Given the description of an element on the screen output the (x, y) to click on. 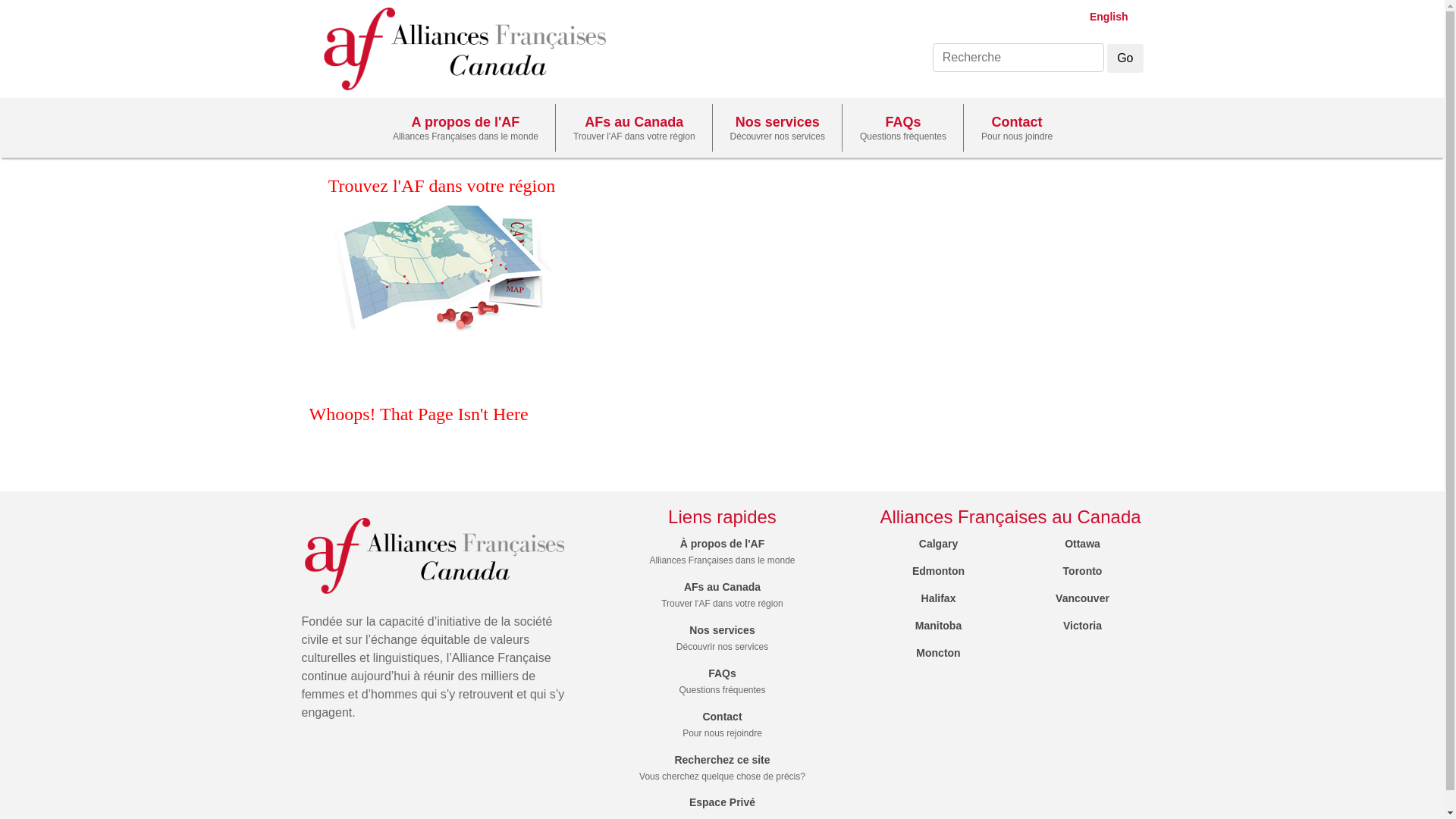
Vancouver Element type: text (1082, 598)
Go Element type: text (1124, 57)
English Element type: text (1101, 16)
Contact
Pour nous joindre Element type: text (1016, 126)
Ottawa Element type: text (1082, 543)
Contact
Pour nous rejoindre Element type: text (722, 724)
Halifax Element type: text (938, 598)
Toronto Element type: text (1082, 570)
Moncton Element type: text (938, 652)
Victoria Element type: text (1082, 625)
Manitoba Element type: text (938, 625)
Edmonton Element type: text (938, 570)
Calgary Element type: text (938, 543)
